Given the description of an element on the screen output the (x, y) to click on. 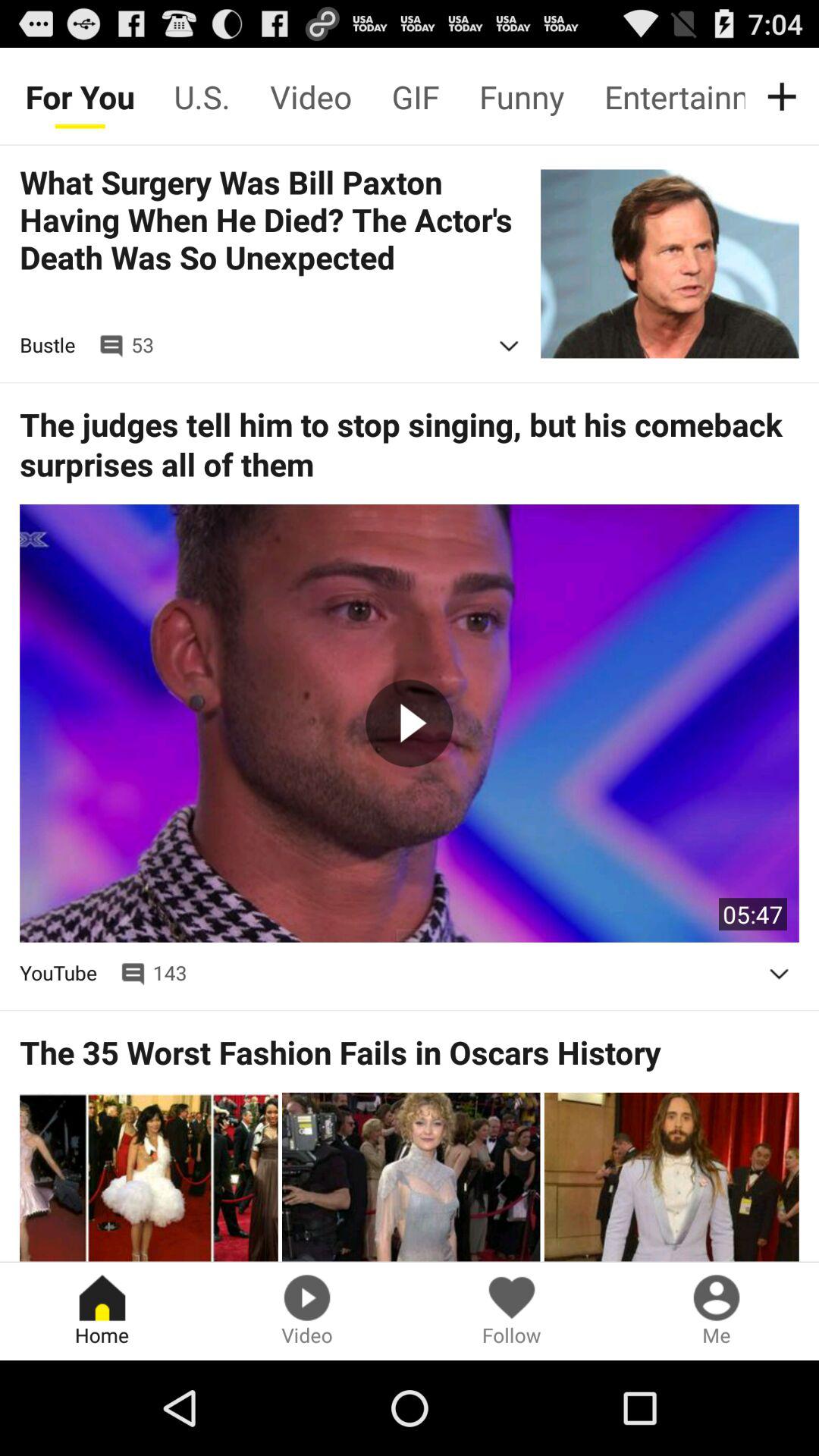
add search (785, 96)
